Given the description of an element on the screen output the (x, y) to click on. 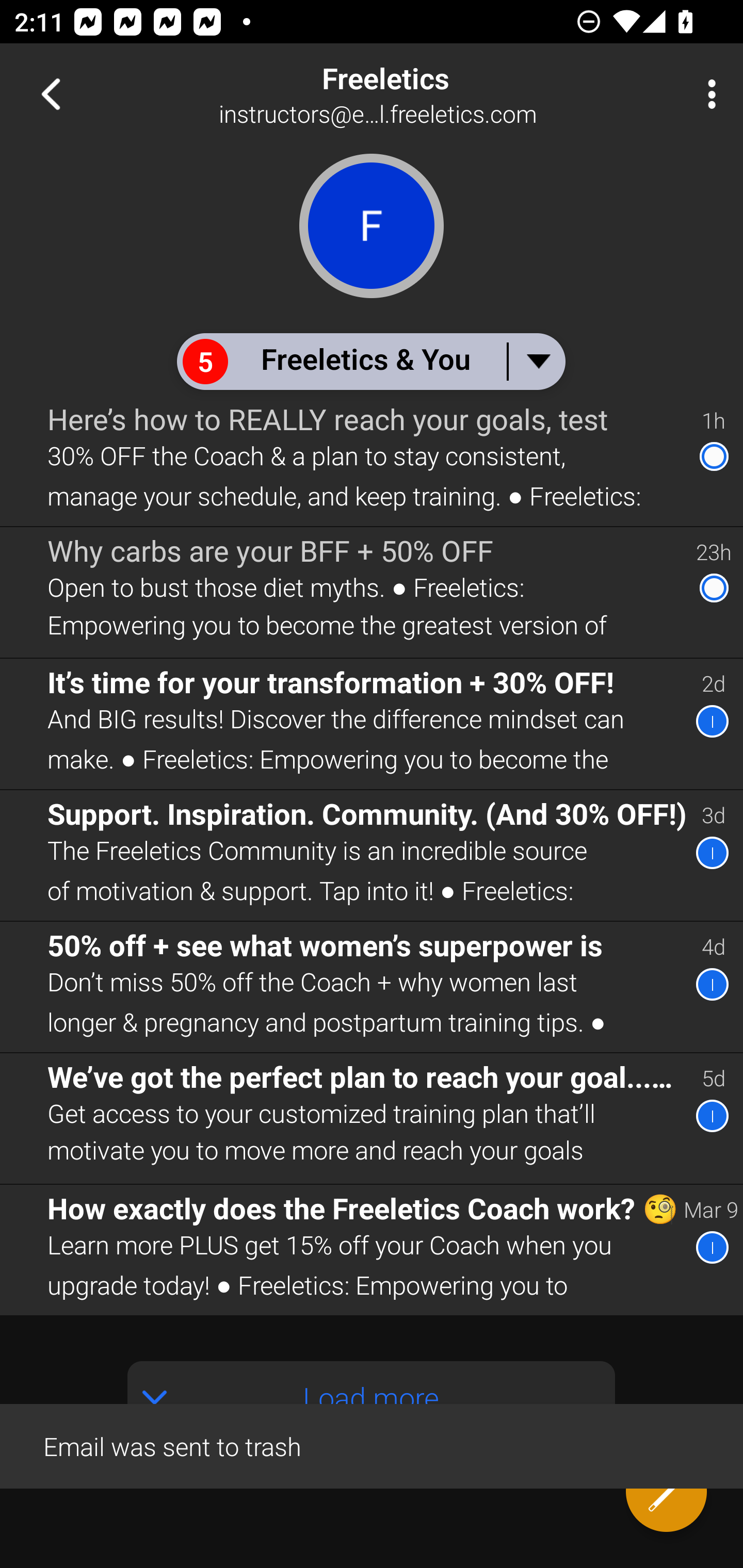
Navigate up (50, 93)
Freeletics instructors@email.freeletics.com (436, 93)
More Options (706, 93)
5 Freeletics & You (370, 361)
Email was sent to trash (371, 1445)
